Given the description of an element on the screen output the (x, y) to click on. 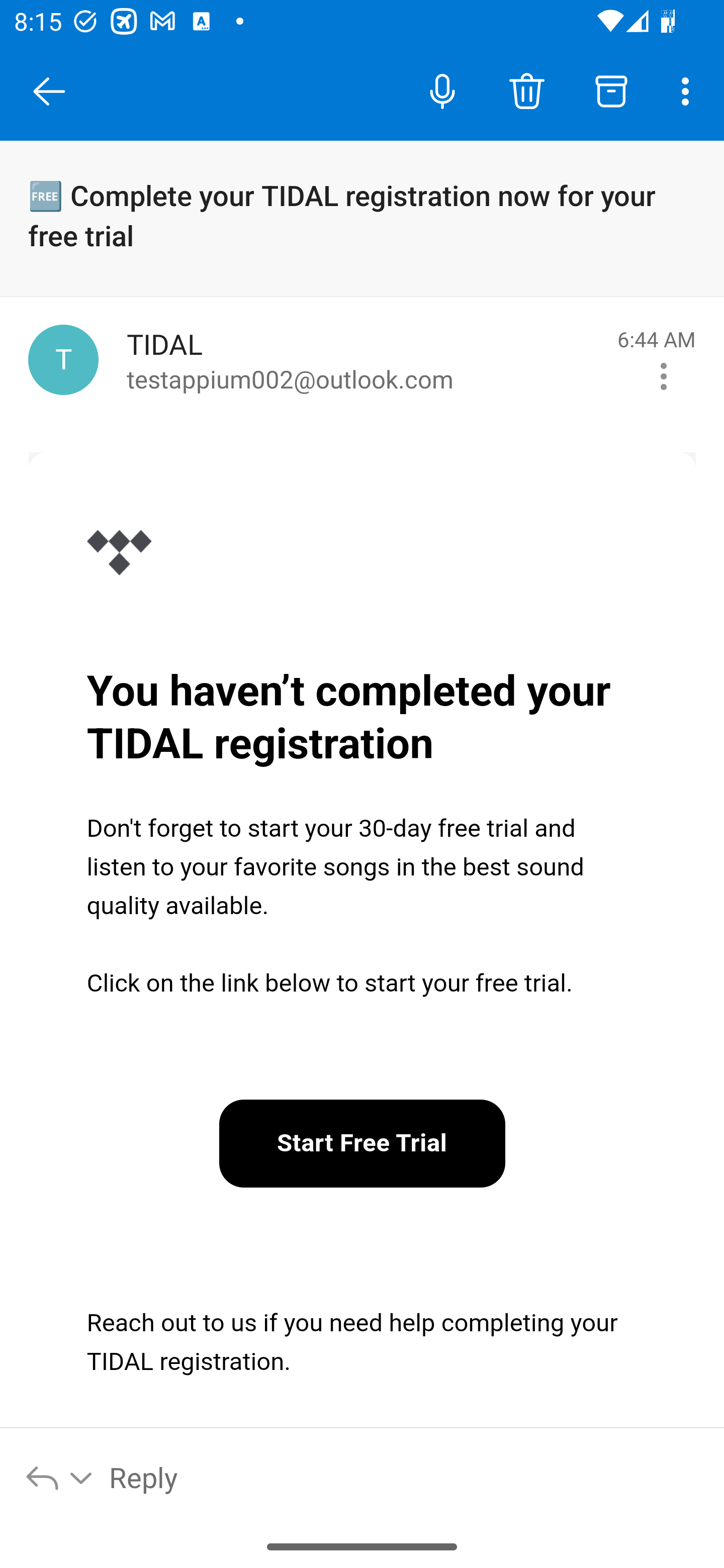
Close (49, 91)
Delete (526, 90)
Archive (611, 90)
More options (688, 90)
TIDAL, hello@email.tidal.com (63, 359)
TIDAL
to testappium002@outlook.com (364, 359)
Message actions (663, 376)
Reply options (59, 1476)
